Given the description of an element on the screen output the (x, y) to click on. 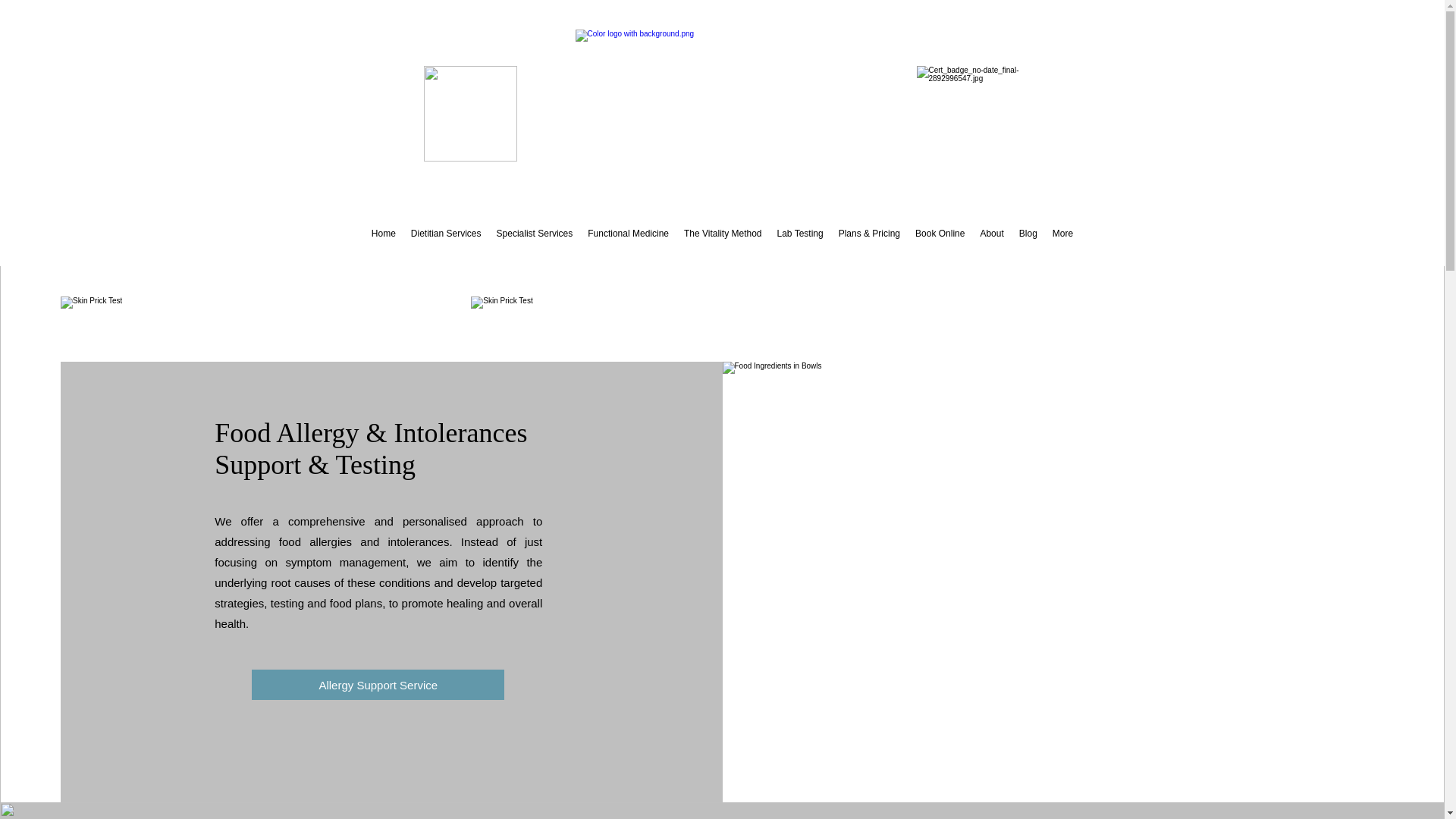
About (991, 246)
Functional Medicine (628, 246)
Allergy Support Service (377, 684)
The Vitality Method (723, 246)
Lab Testing (798, 246)
Home (383, 246)
Dietitian Services (446, 246)
Book Online (939, 246)
